Given the description of an element on the screen output the (x, y) to click on. 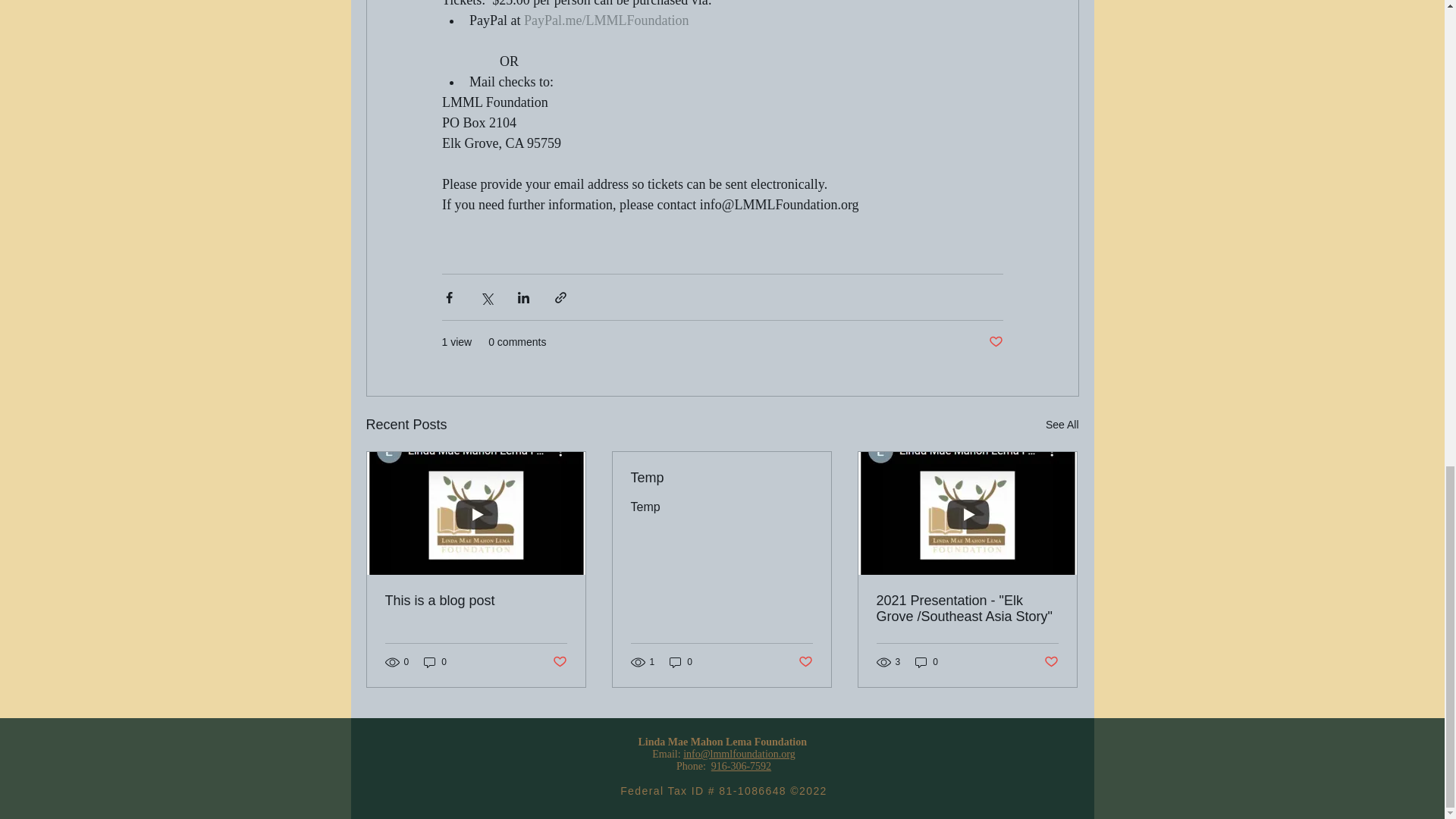
This is a blog post (476, 600)
Post not marked as liked (804, 662)
See All (1061, 424)
0 (435, 661)
Post not marked as liked (1050, 662)
0 (681, 661)
0 (926, 661)
Temp (721, 478)
Post not marked as liked (558, 662)
Post not marked as liked (995, 342)
